Given the description of an element on the screen output the (x, y) to click on. 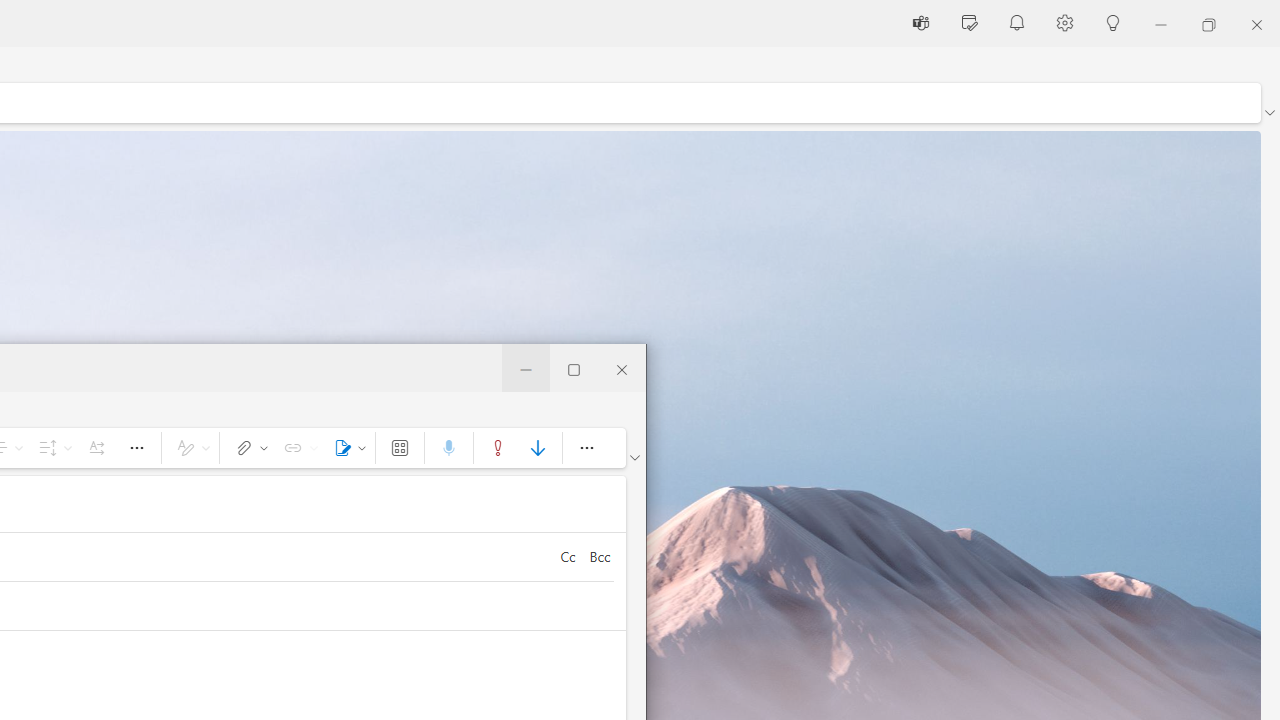
Signature (346, 447)
